Given the description of an element on the screen output the (x, y) to click on. 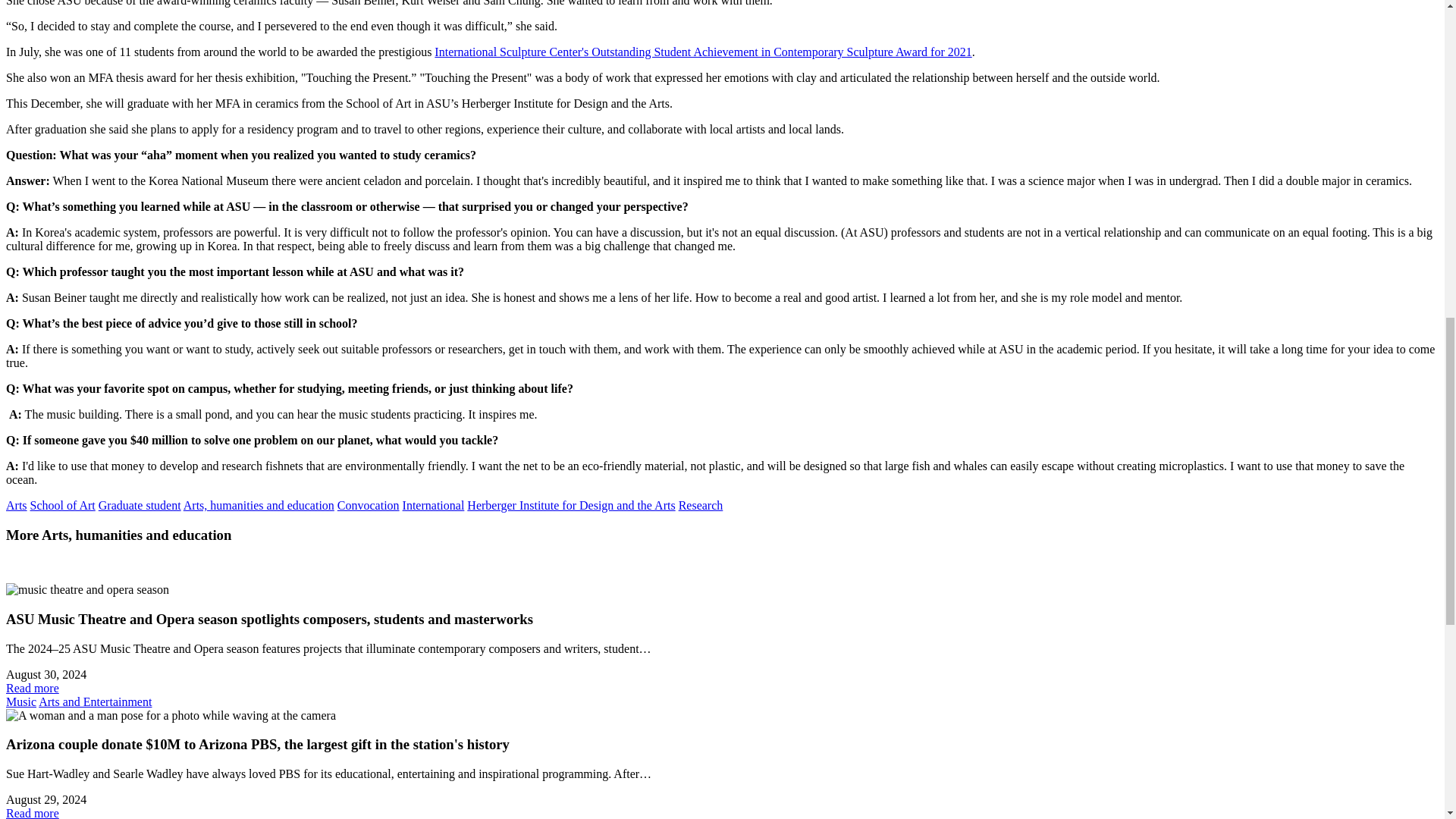
Read more (32, 687)
School of Art (63, 504)
Graduate student (139, 504)
Arts and Entertainment (95, 701)
International (433, 504)
Convocation (367, 504)
Music (20, 701)
Herberger Institute for Design and the Arts (571, 504)
Arts (16, 504)
Read more (32, 812)
